Given the description of an element on the screen output the (x, y) to click on. 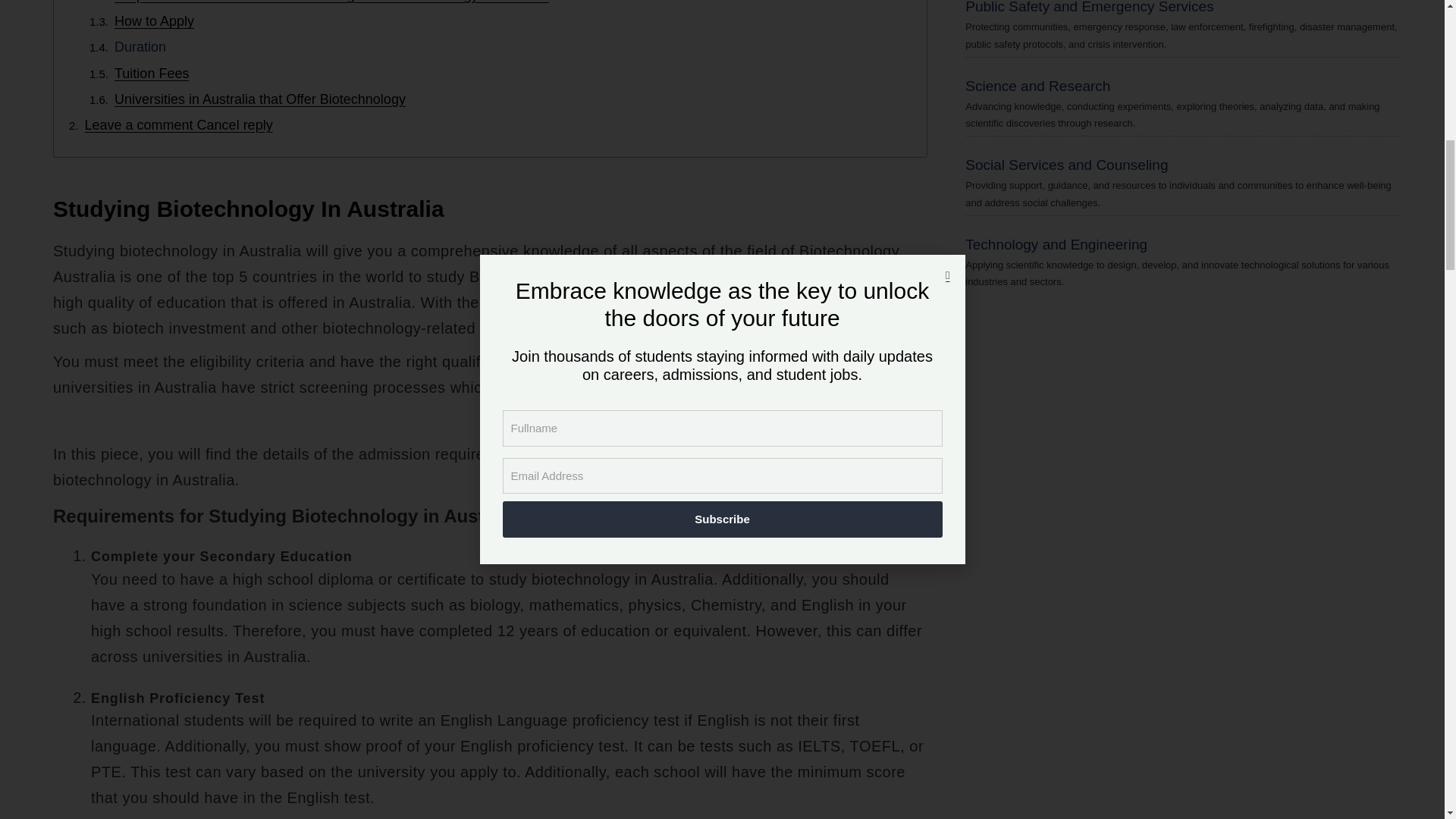
Leave a comment Cancel reply (178, 125)
Tuition Fees (152, 73)
How to Apply (154, 21)
Universities in Australia that Offer Biotechnology (260, 99)
Duration (140, 46)
